Given the description of an element on the screen output the (x, y) to click on. 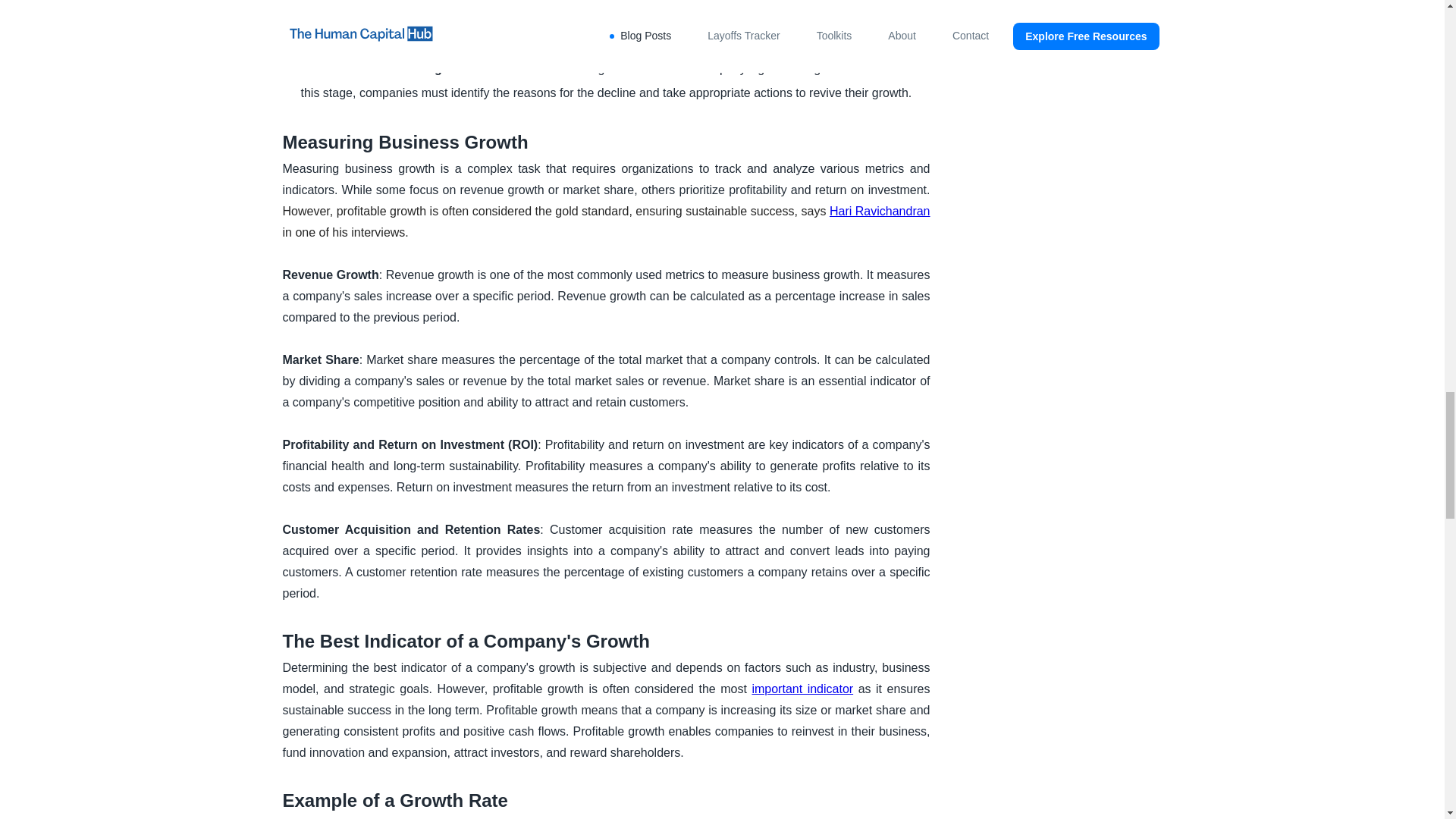
Hari Ravichandran (879, 210)
important indicator (802, 688)
